Given the description of an element on the screen output the (x, y) to click on. 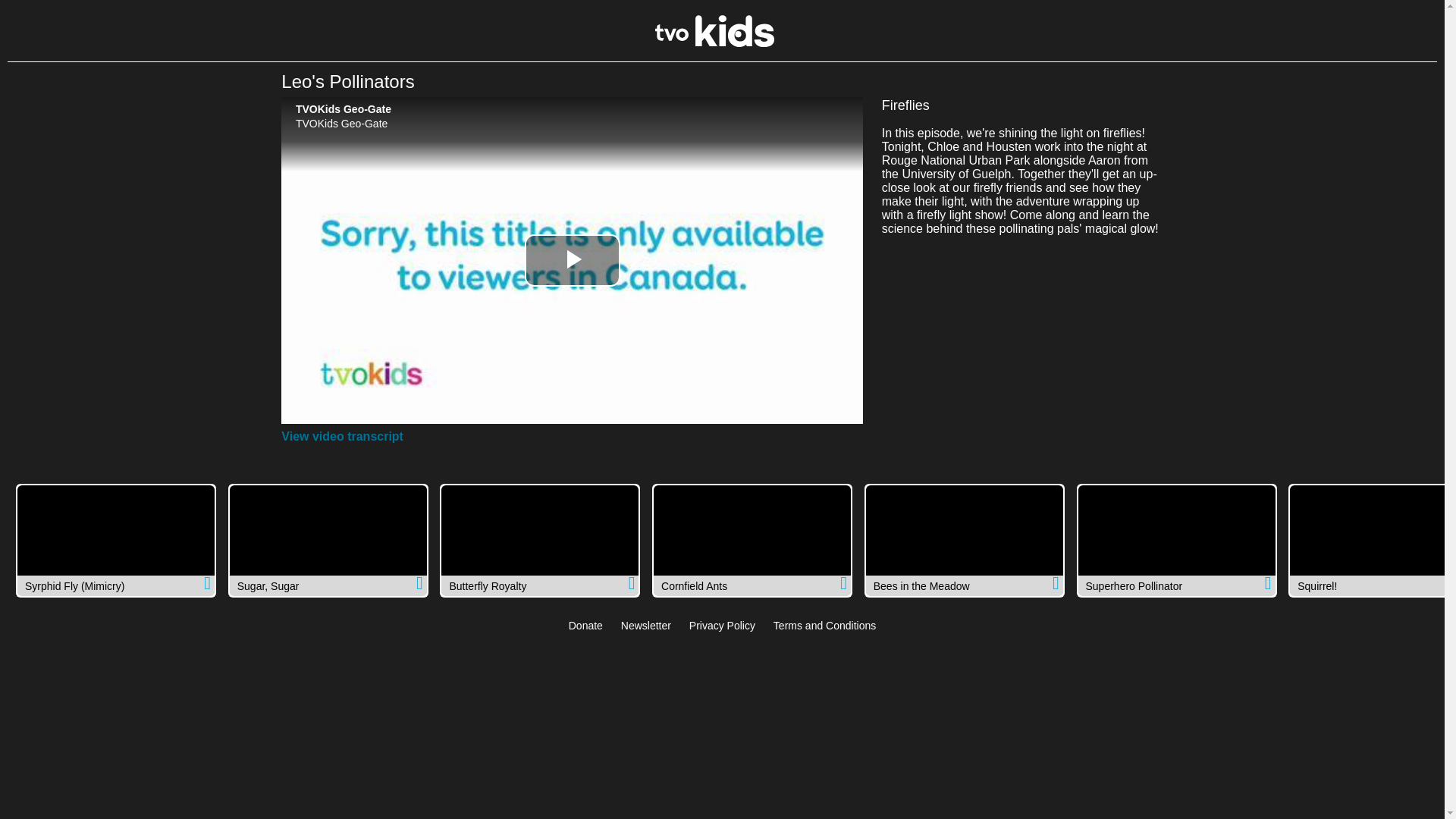
Cornfield Ants (751, 540)
Play Video (572, 260)
Superhero Pollinator (1176, 540)
Bees in the Meadow (964, 540)
Sugar, Sugar (328, 540)
View video transcript (342, 436)
T V O Kids Logo (714, 42)
Play Video (572, 260)
Butterfly Royalty (539, 540)
